Given the description of an element on the screen output the (x, y) to click on. 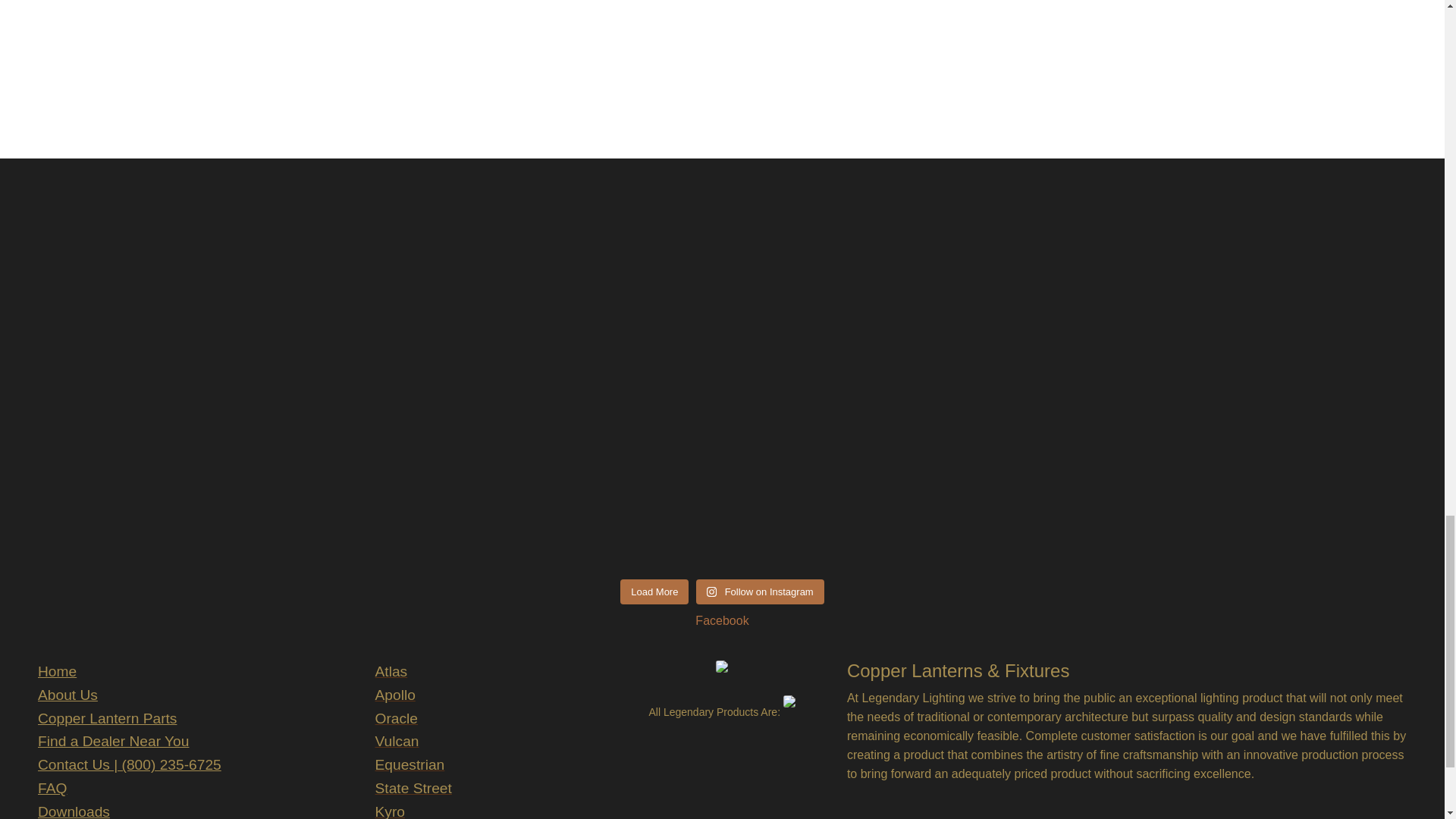
Copper Lantern Parts (106, 718)
Load More (654, 592)
Facebook (721, 620)
Home (57, 671)
About Us (67, 694)
Find a Dealer Near You (113, 741)
Follow on Instagram (759, 592)
